Given the description of an element on the screen output the (x, y) to click on. 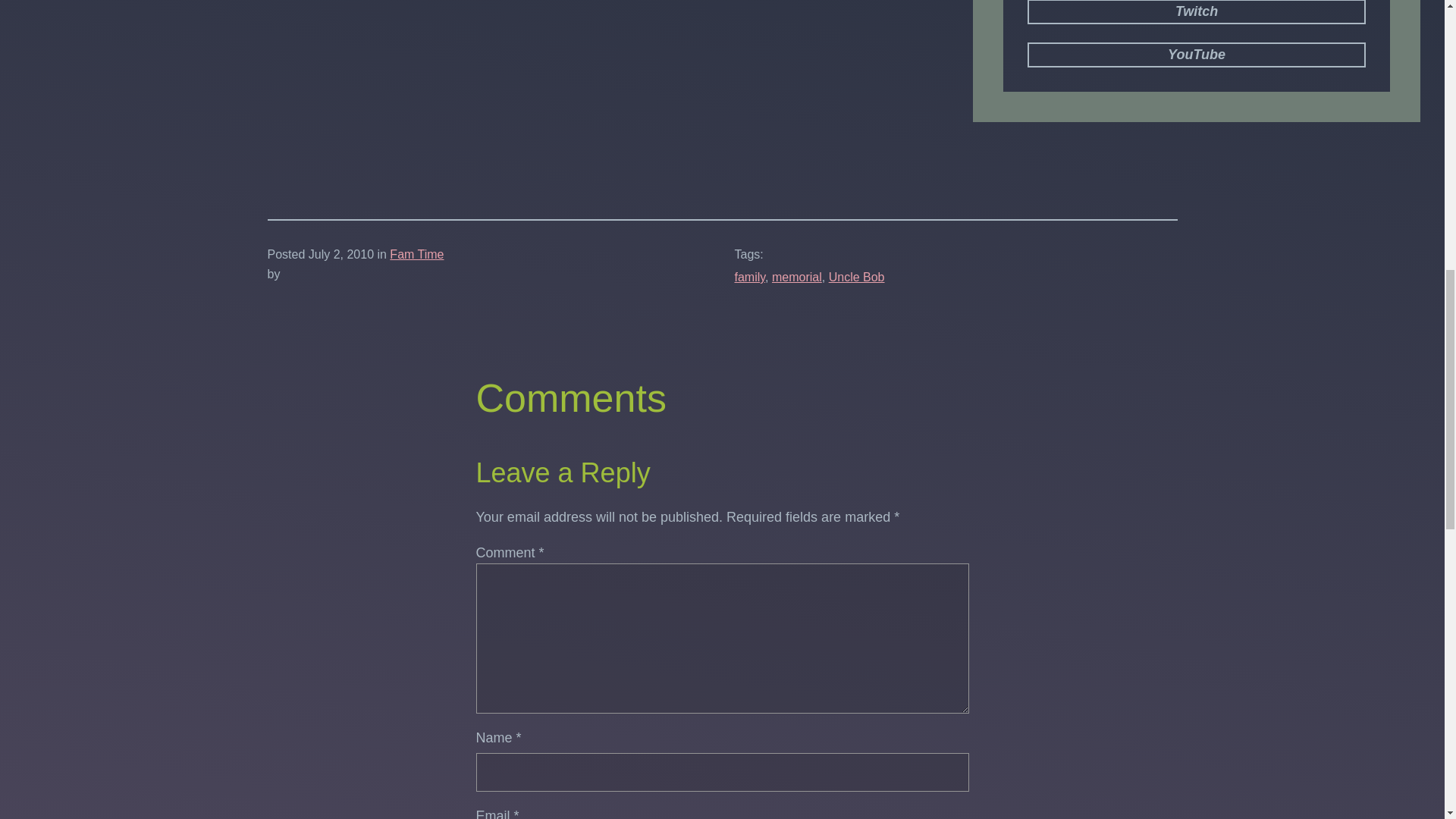
family (749, 277)
Twitch (1196, 12)
YouTube (1196, 54)
Fam Time (417, 254)
memorial (796, 277)
Uncle Bob (856, 277)
